Given the description of an element on the screen output the (x, y) to click on. 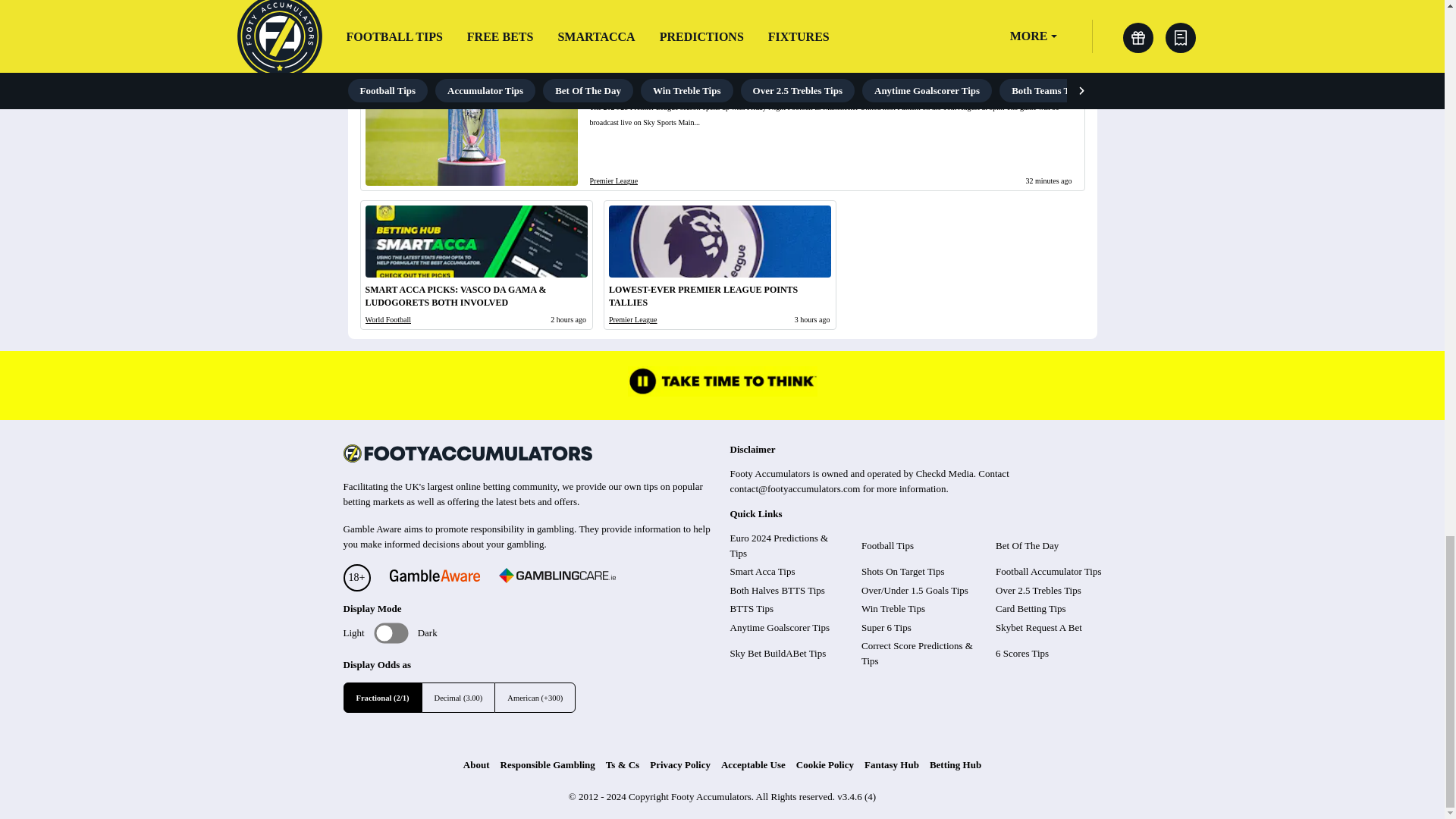
Be gamble aware campaign (433, 577)
Take time to think campaign link (721, 391)
GamblingCare.ie (557, 578)
